Given the description of an element on the screen output the (x, y) to click on. 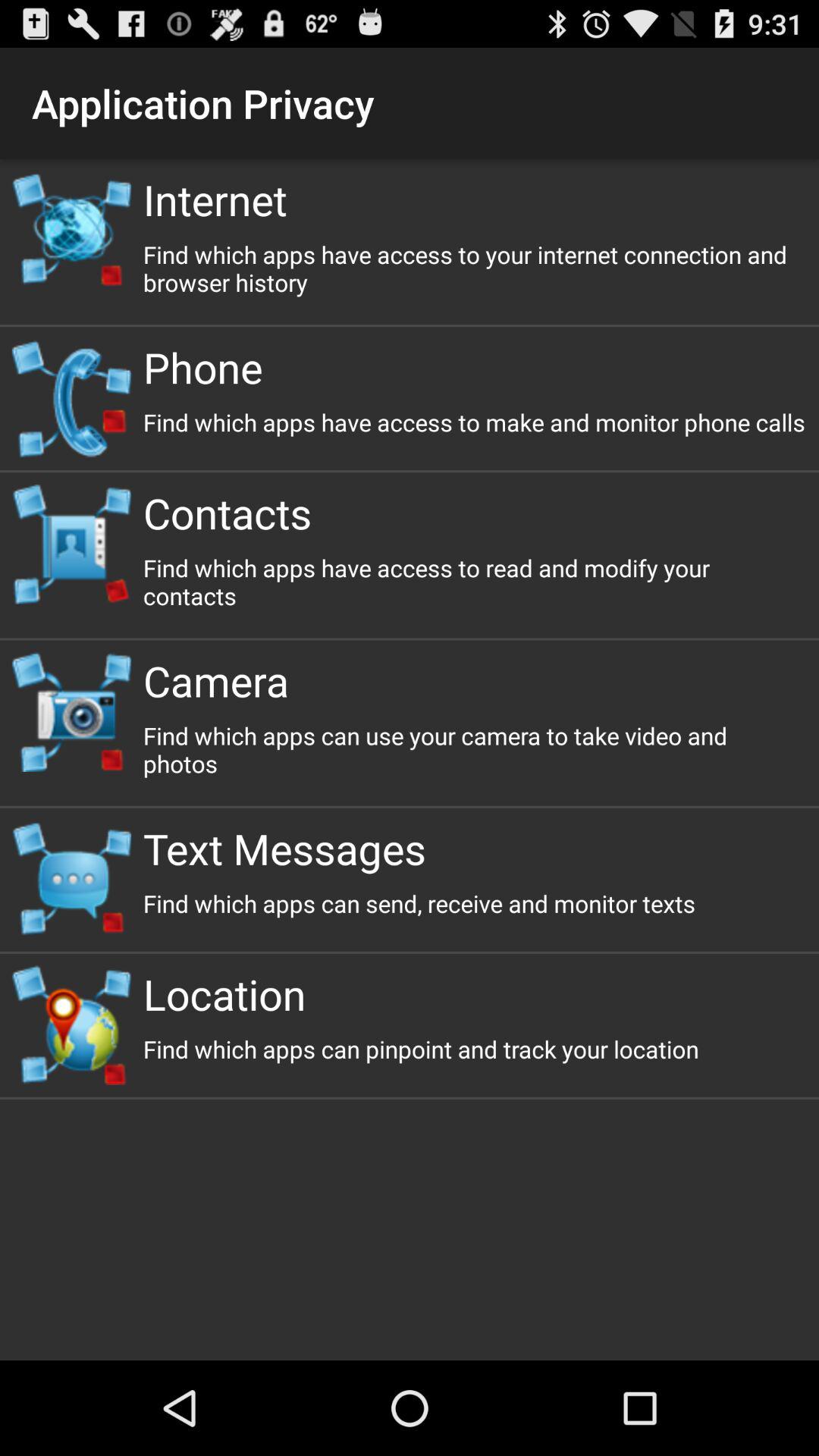
select text messages app (475, 848)
